Given the description of an element on the screen output the (x, y) to click on. 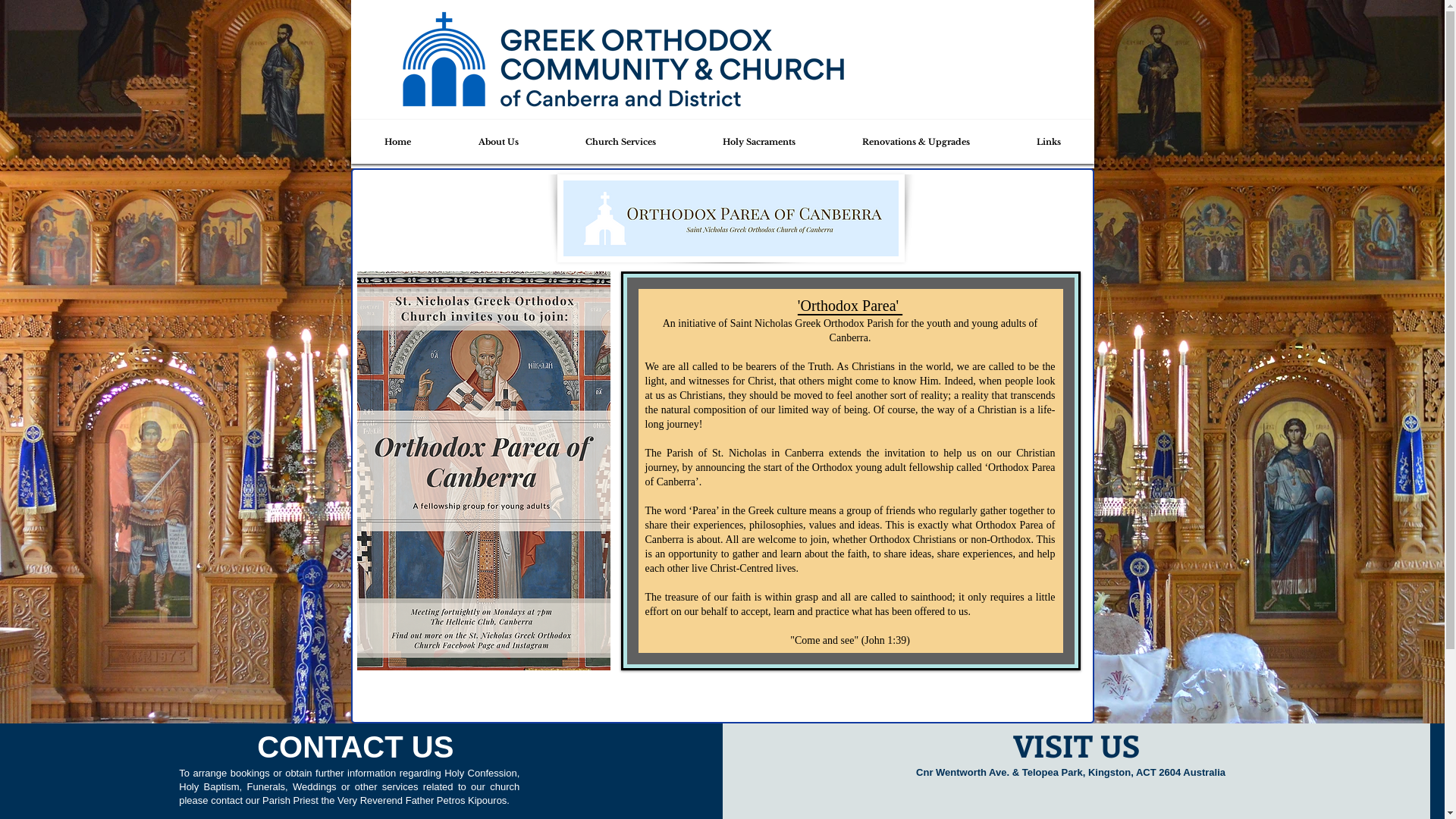
Renovations & Upgrades Element type: text (915, 141)
Holy Sacraments Element type: text (759, 141)
Church Services Element type: text (619, 141)
Home Element type: text (397, 141)
